Given the description of an element on the screen output the (x, y) to click on. 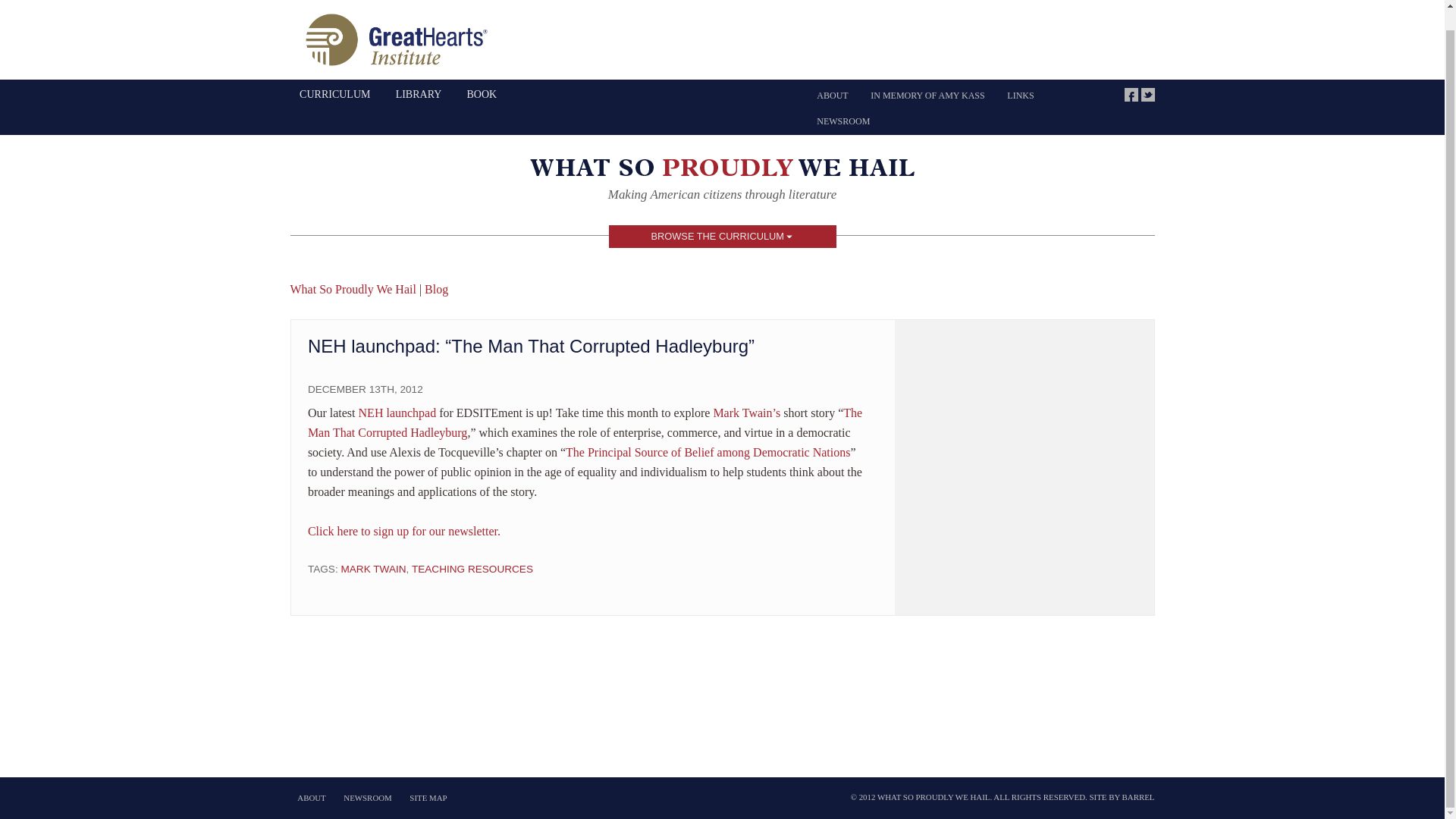
FACEBOOK (1131, 94)
CURRICULUM (334, 94)
NEWSROOM (842, 121)
ABOUT (832, 95)
IN MEMORY OF AMY KASS (926, 95)
LINKS (1020, 95)
TWITTER (1147, 94)
BOOK (481, 94)
LIBRARY (418, 94)
What So Proudly We Hail (721, 171)
BROWSE THE CURRICULUM (721, 235)
